Given the description of an element on the screen output the (x, y) to click on. 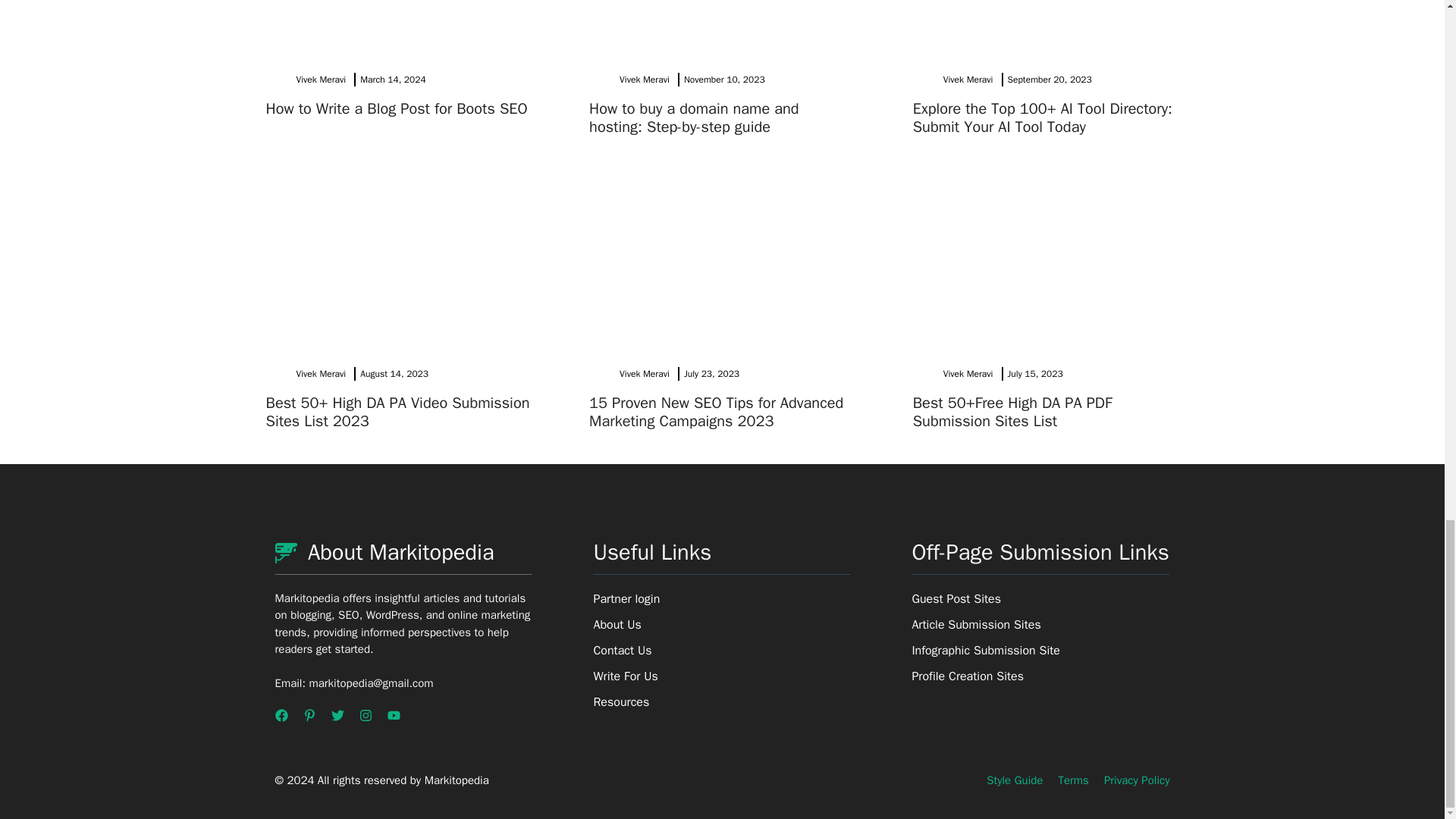
How to buy a domain name and hosting: Step-by-step guide (693, 117)
15 Proven New SEO Tips for Advanced Marketing Campaigns 2023 (716, 411)
How to Write a Blog Post for Boots SEO (395, 108)
